Given the description of an element on the screen output the (x, y) to click on. 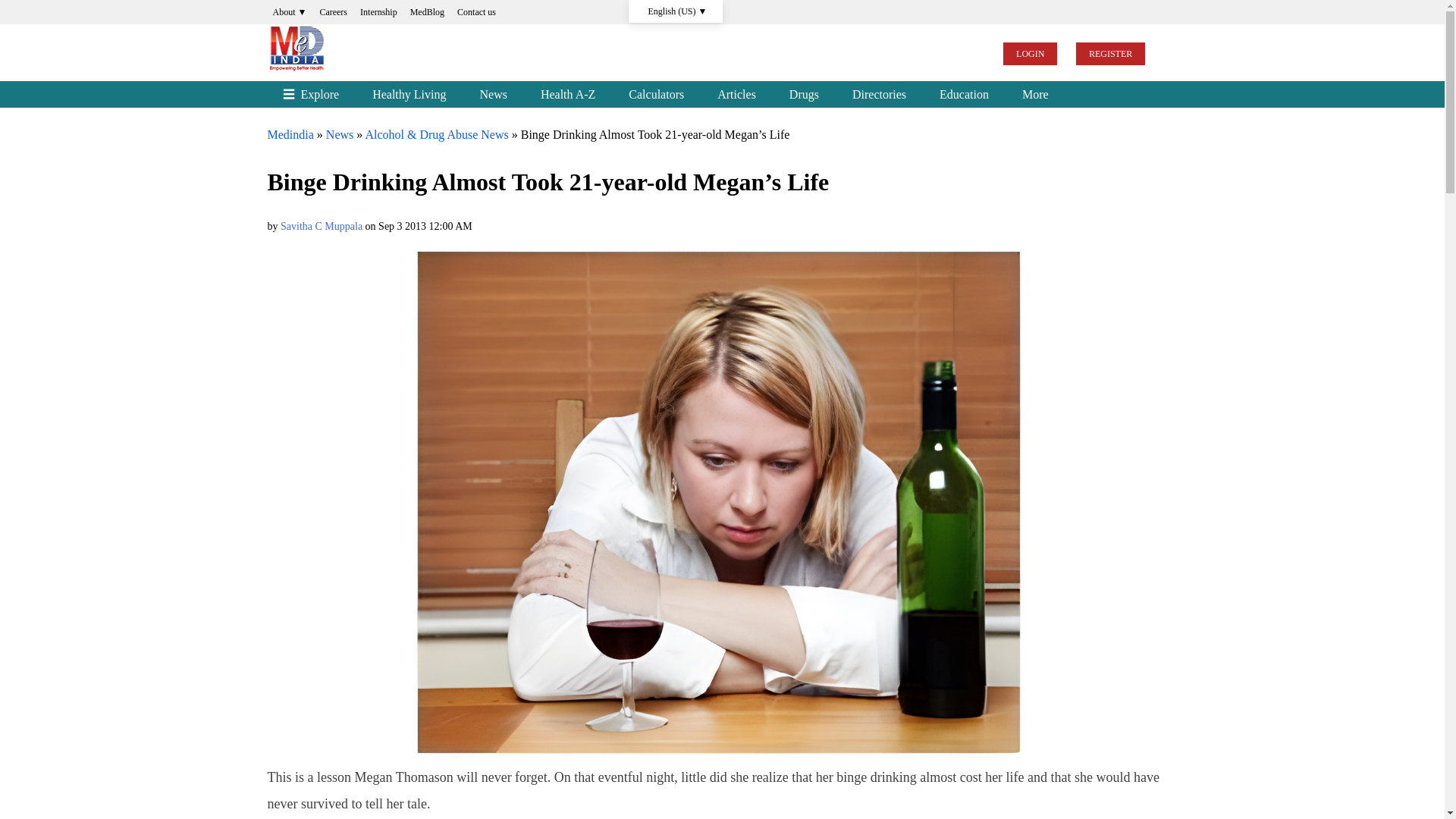
Internship (379, 11)
Medindia (289, 133)
Healthy Living (408, 93)
Directories (879, 93)
Education (964, 93)
Careers (333, 11)
Savitha C Muppala (321, 225)
LOGIN (1030, 53)
Health A-Z (567, 93)
REGISTER (1109, 53)
Contact us (475, 11)
Articles (736, 93)
MedBlog (426, 11)
Drugs (804, 93)
News (339, 133)
